Given the description of an element on the screen output the (x, y) to click on. 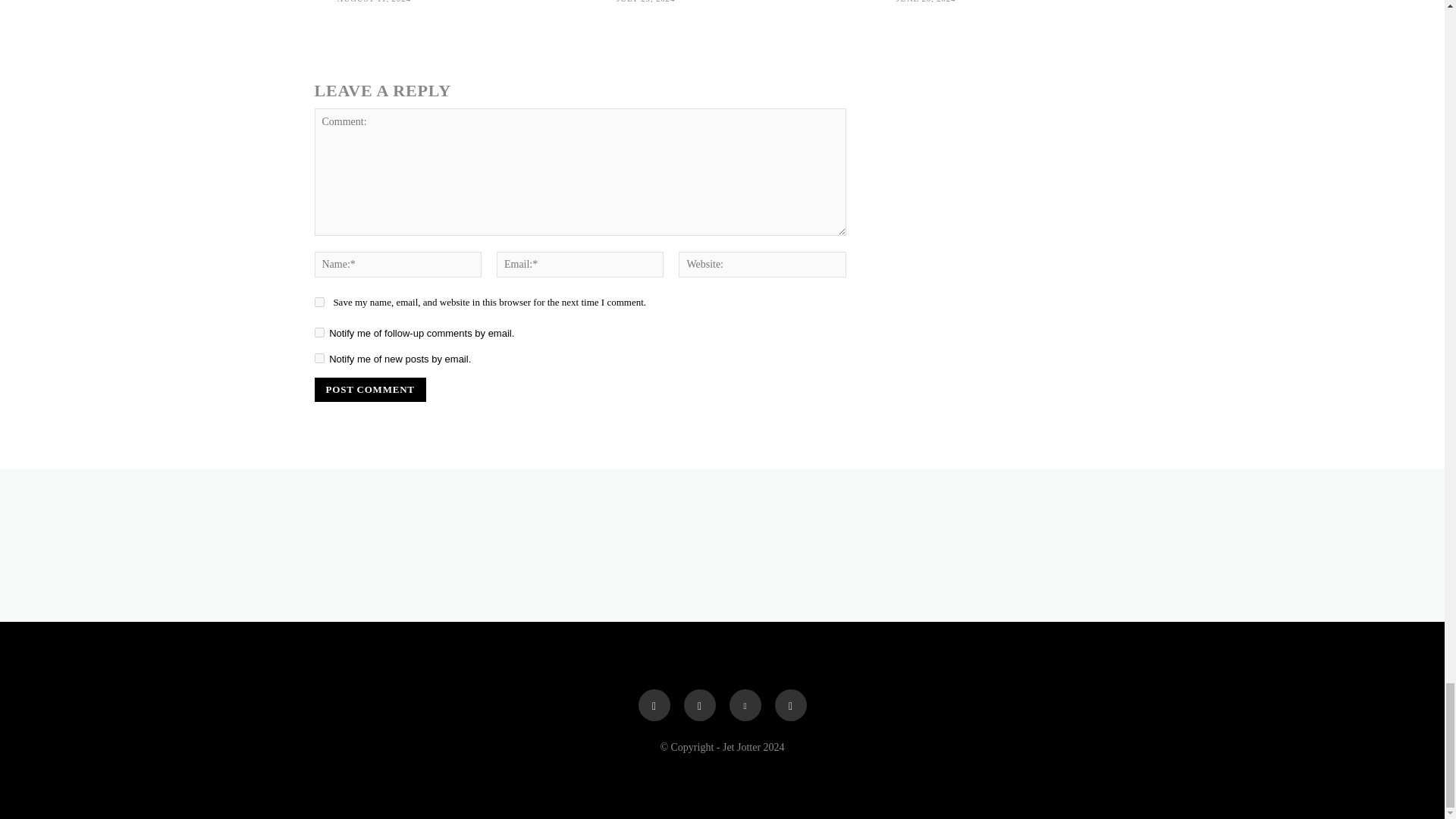
subscribe (318, 357)
yes (318, 302)
Post Comment (369, 389)
subscribe (318, 332)
